Given the description of an element on the screen output the (x, y) to click on. 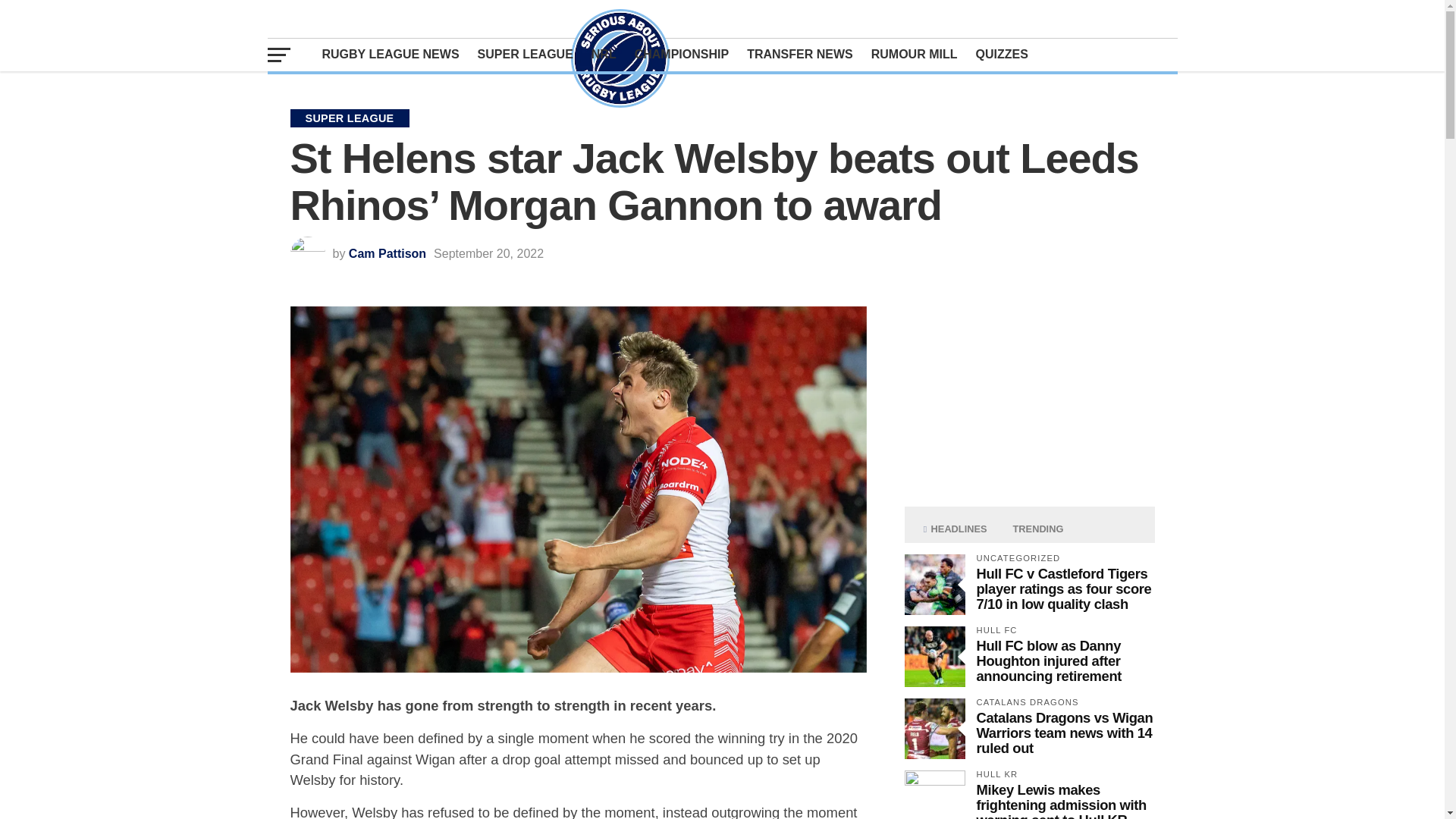
RUGBY LEAGUE NEWS (390, 54)
TRANSFER NEWS (799, 54)
NRL (604, 54)
SUPER LEAGUE (525, 54)
Posts by Cam Pattison (387, 253)
CHAMPIONSHIP (682, 54)
